Given the description of an element on the screen output the (x, y) to click on. 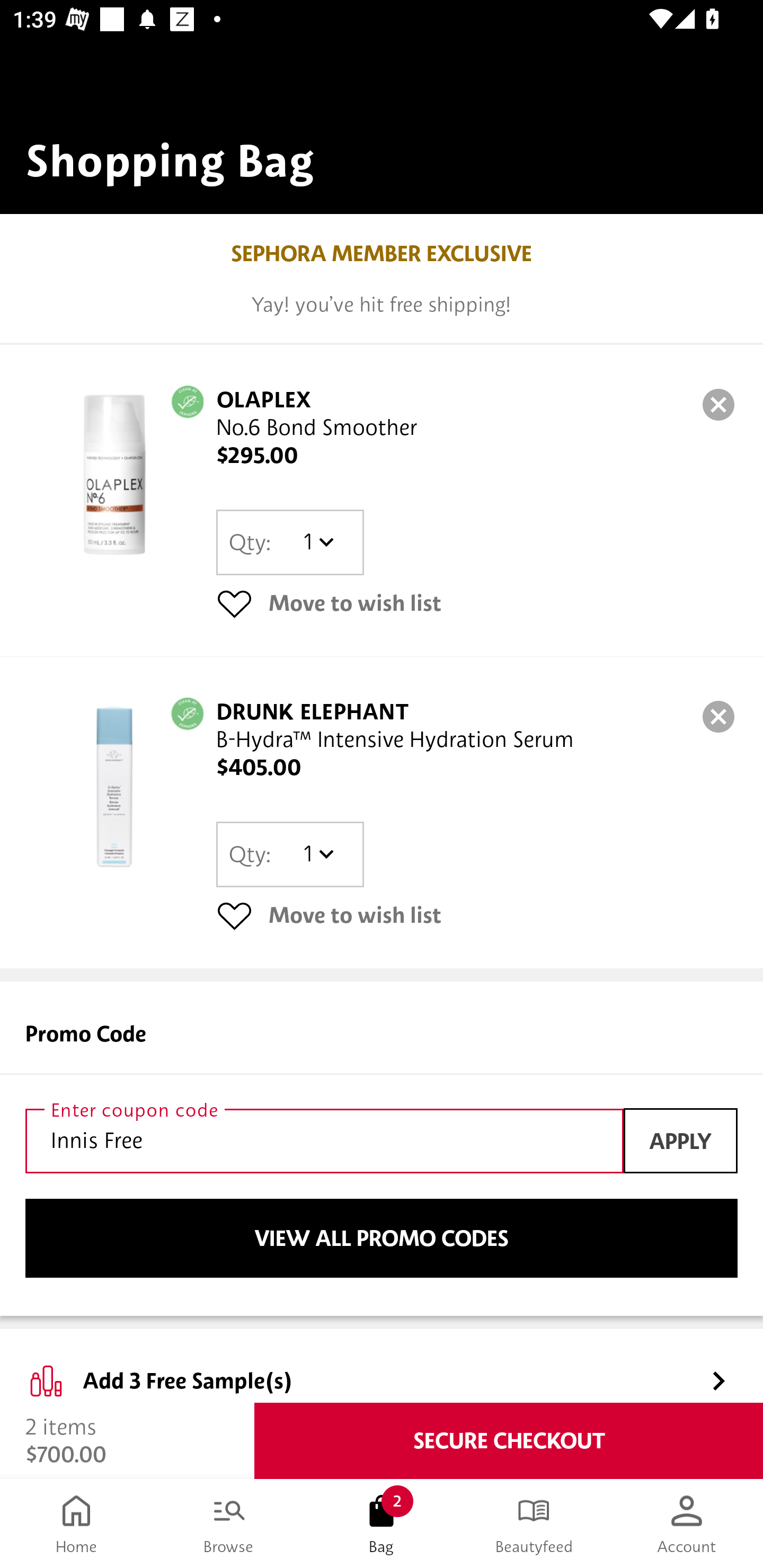
1 (317, 542)
Move to wish list (476, 602)
1 (317, 854)
Move to wish list (476, 914)
Promo Code Innis Free APPLY VIEW ALL PROMO CODES (381, 1148)
APPLY (680, 1140)
Innis Free (324, 1140)
VIEW ALL PROMO CODES (381, 1238)
Add 3 Free Sample(s) (381, 1365)
SECURE CHECKOUT (508, 1440)
Home (76, 1523)
Browse (228, 1523)
Beautyfeed (533, 1523)
Account (686, 1523)
